Given the description of an element on the screen output the (x, y) to click on. 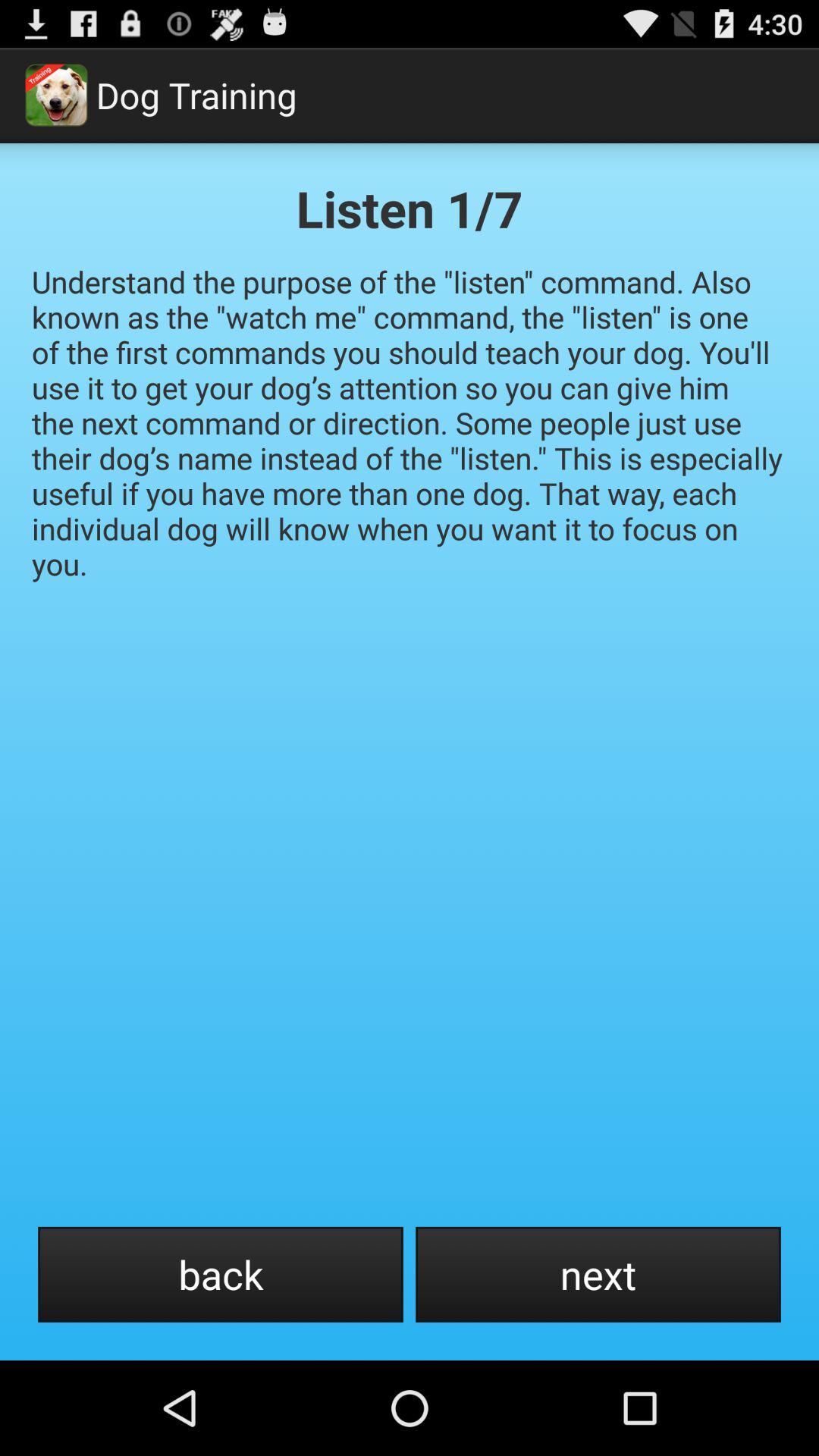
press the back at the bottom left corner (220, 1274)
